Given the description of an element on the screen output the (x, y) to click on. 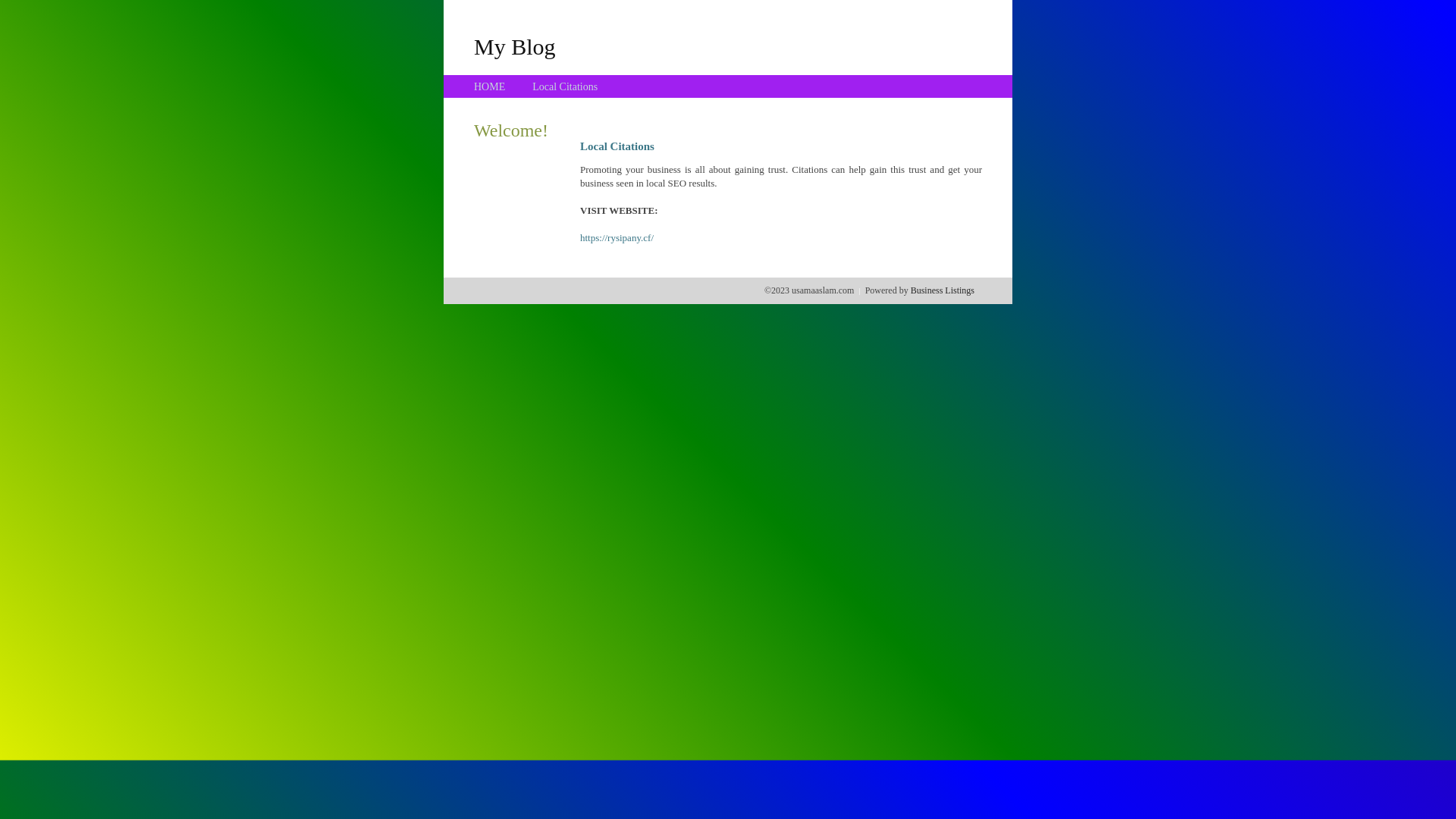
Local Citations Element type: text (564, 86)
HOME Element type: text (489, 86)
https://rysipany.cf/ Element type: text (616, 237)
Business Listings Element type: text (942, 290)
My Blog Element type: text (514, 46)
